Given the description of an element on the screen output the (x, y) to click on. 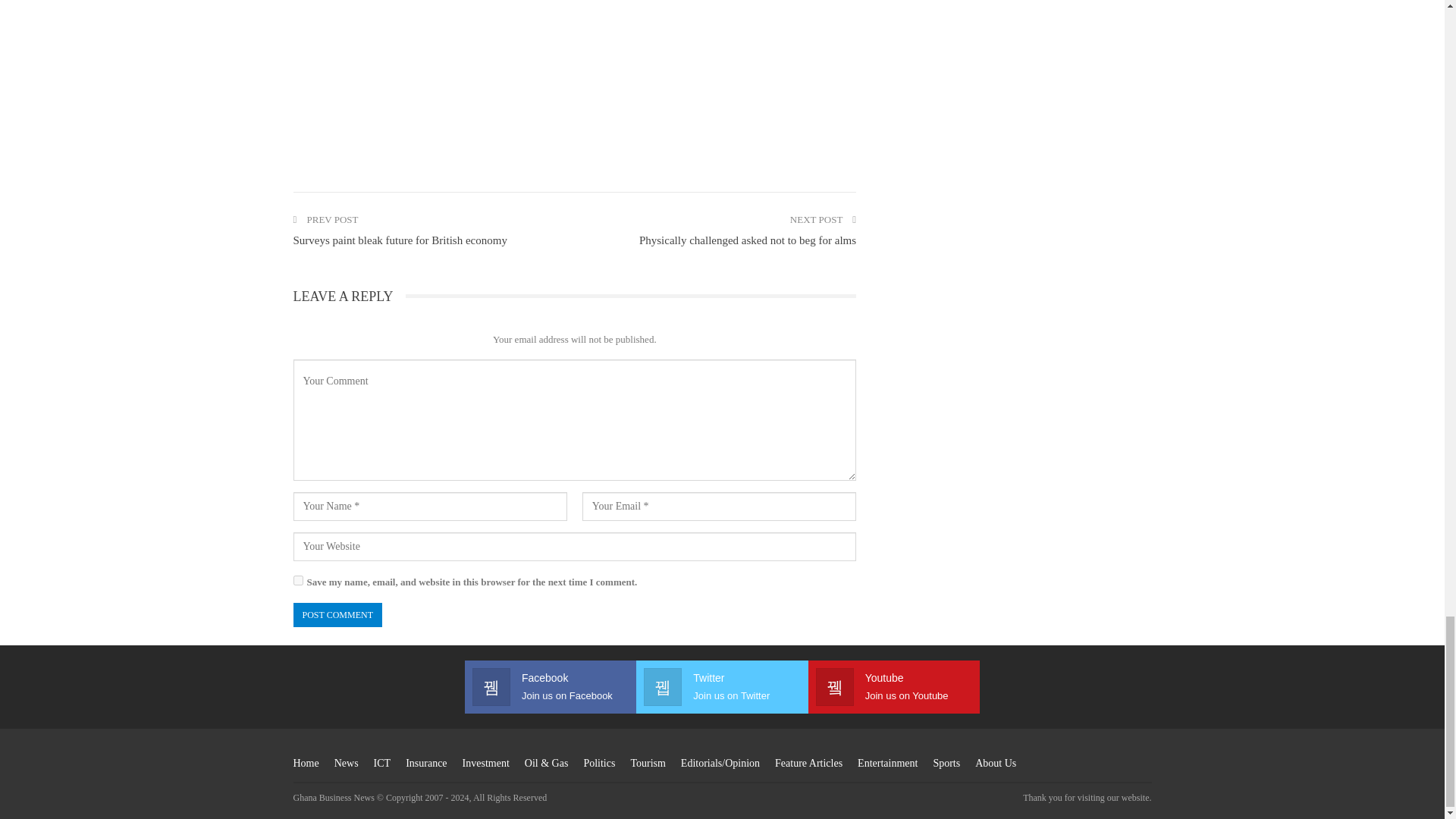
Post Comment (336, 615)
Post Comment (336, 615)
yes (297, 580)
Surveys paint bleak future for British economy (399, 240)
Physically challenged asked not to beg for alms (747, 240)
